Given the description of an element on the screen output the (x, y) to click on. 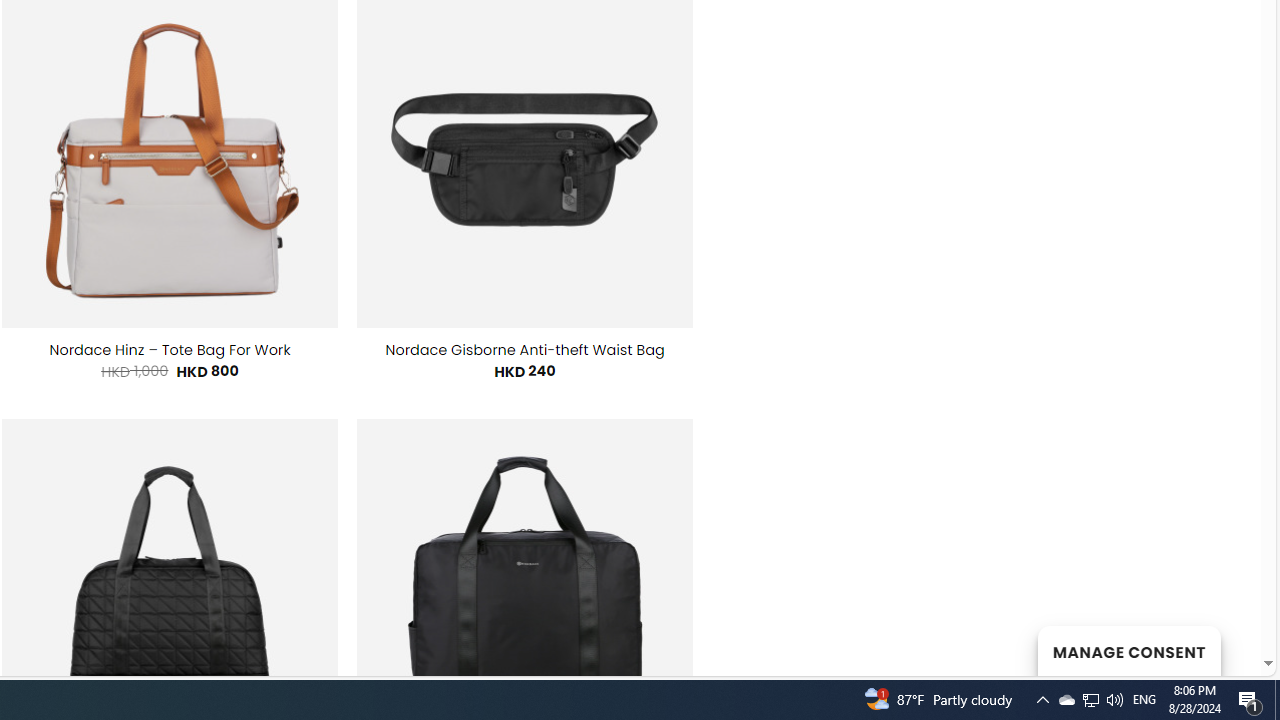
MANAGE CONSENT (1128, 650)
Nordace Gisborne Anti-theft Waist Bag (525, 350)
